Given the description of an element on the screen output the (x, y) to click on. 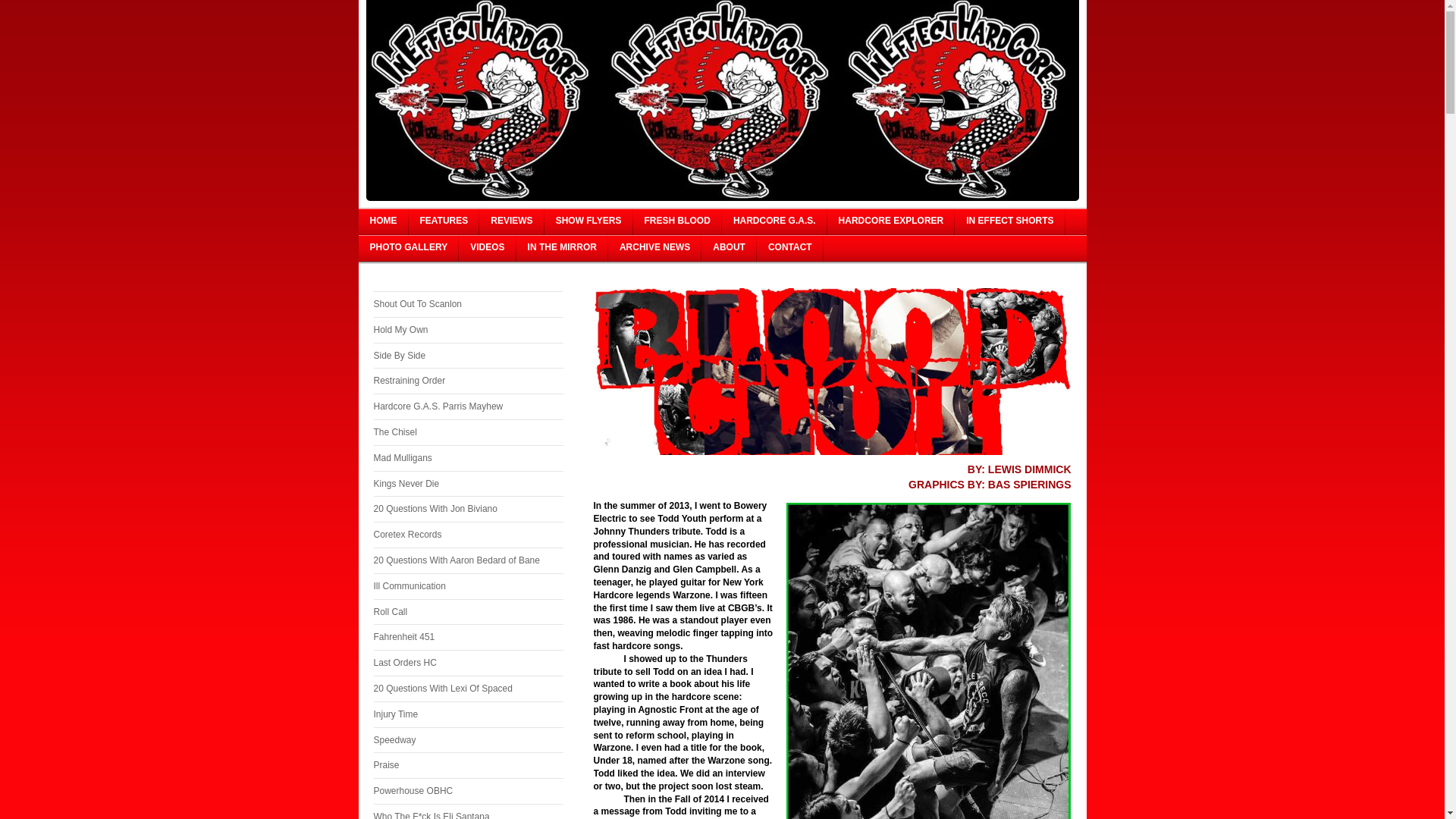
PHOTO GALLERY (408, 248)
ABOUT (729, 248)
HOME (382, 221)
FEATURES (443, 221)
FRESH BLOOD (677, 221)
Injury Time (467, 714)
IN EFFECT SHORTS (1009, 221)
Restraining Order (467, 380)
Speedway (467, 740)
SHOW FLYERS (588, 221)
IN THE MIRROR (562, 248)
Fahrenheit 451 (467, 637)
20 Questions With Lexi Of Spaced (467, 688)
20 Questions With Aaron Bedard of Bane (467, 560)
20 Questions With Jon Biviano (467, 509)
